Given the description of an element on the screen output the (x, y) to click on. 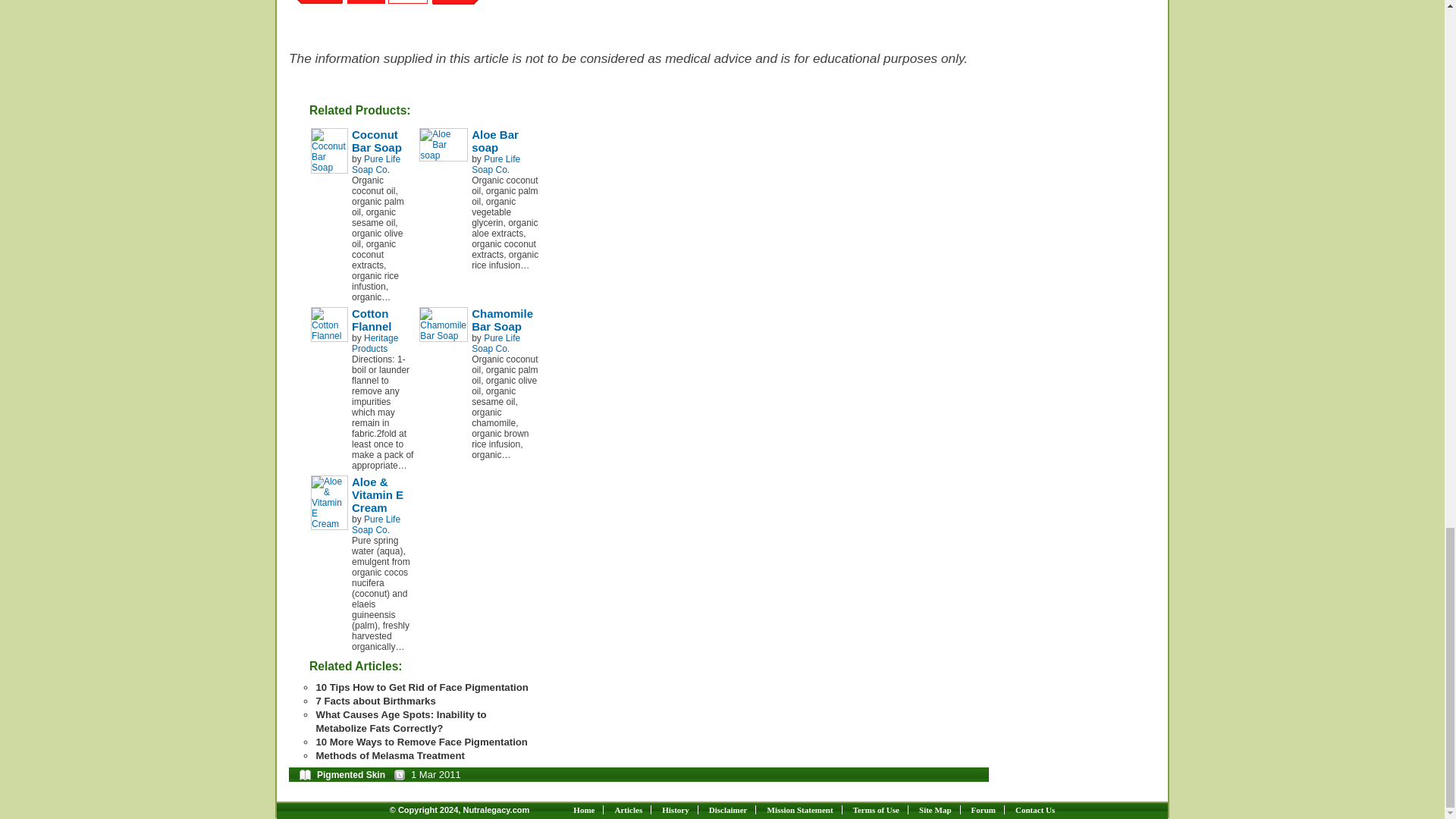
 Aloe Bar soap (443, 144)
 Cotton Flannel (329, 324)
